Given the description of an element on the screen output the (x, y) to click on. 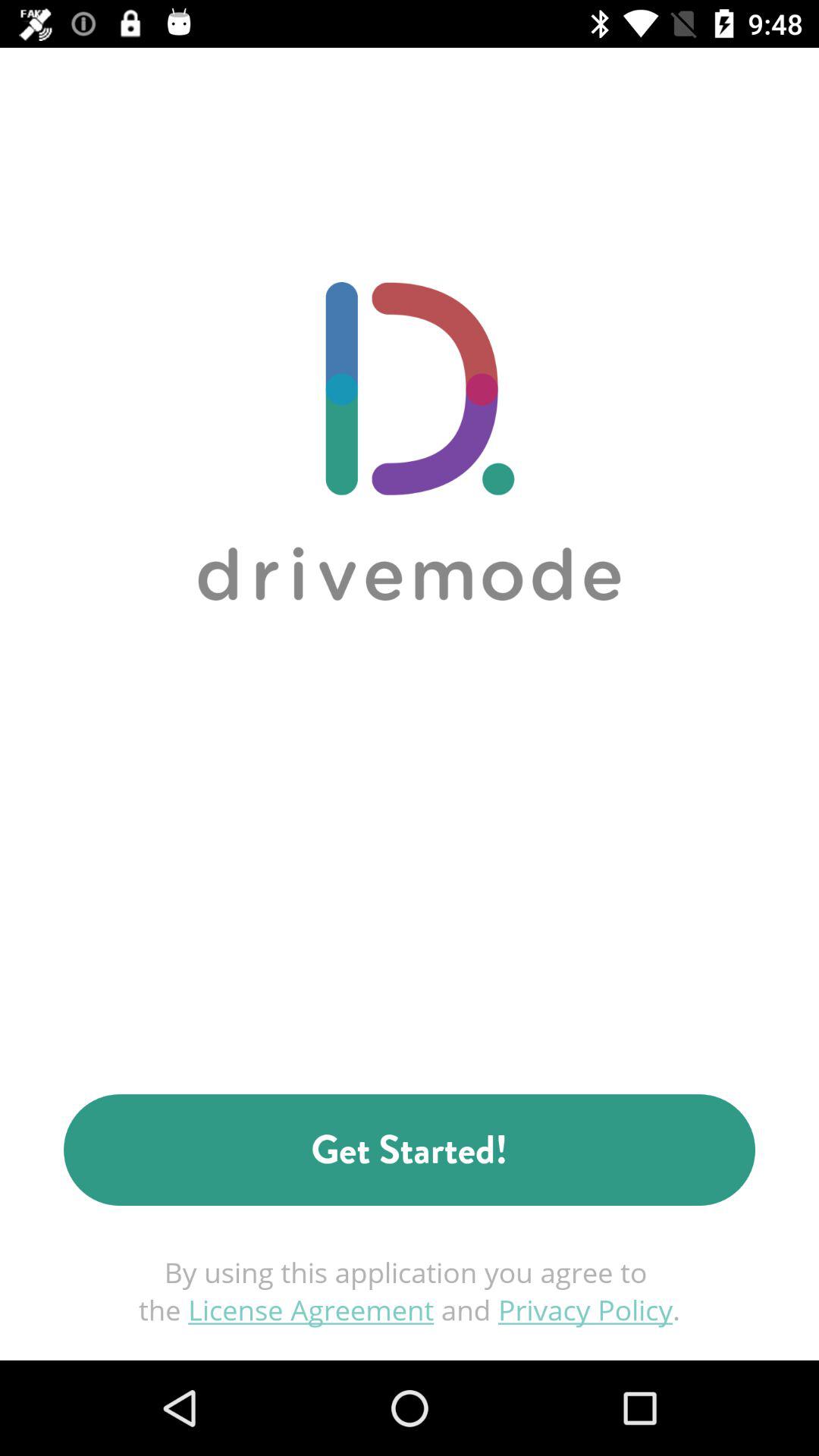
flip to the get started! item (409, 1149)
